Given the description of an element on the screen output the (x, y) to click on. 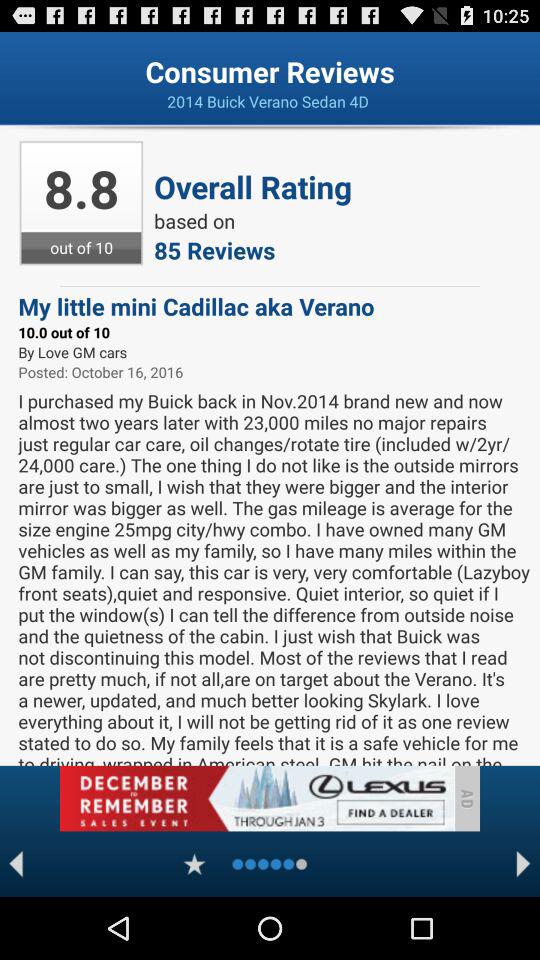
go forward (523, 864)
